Given the description of an element on the screen output the (x, y) to click on. 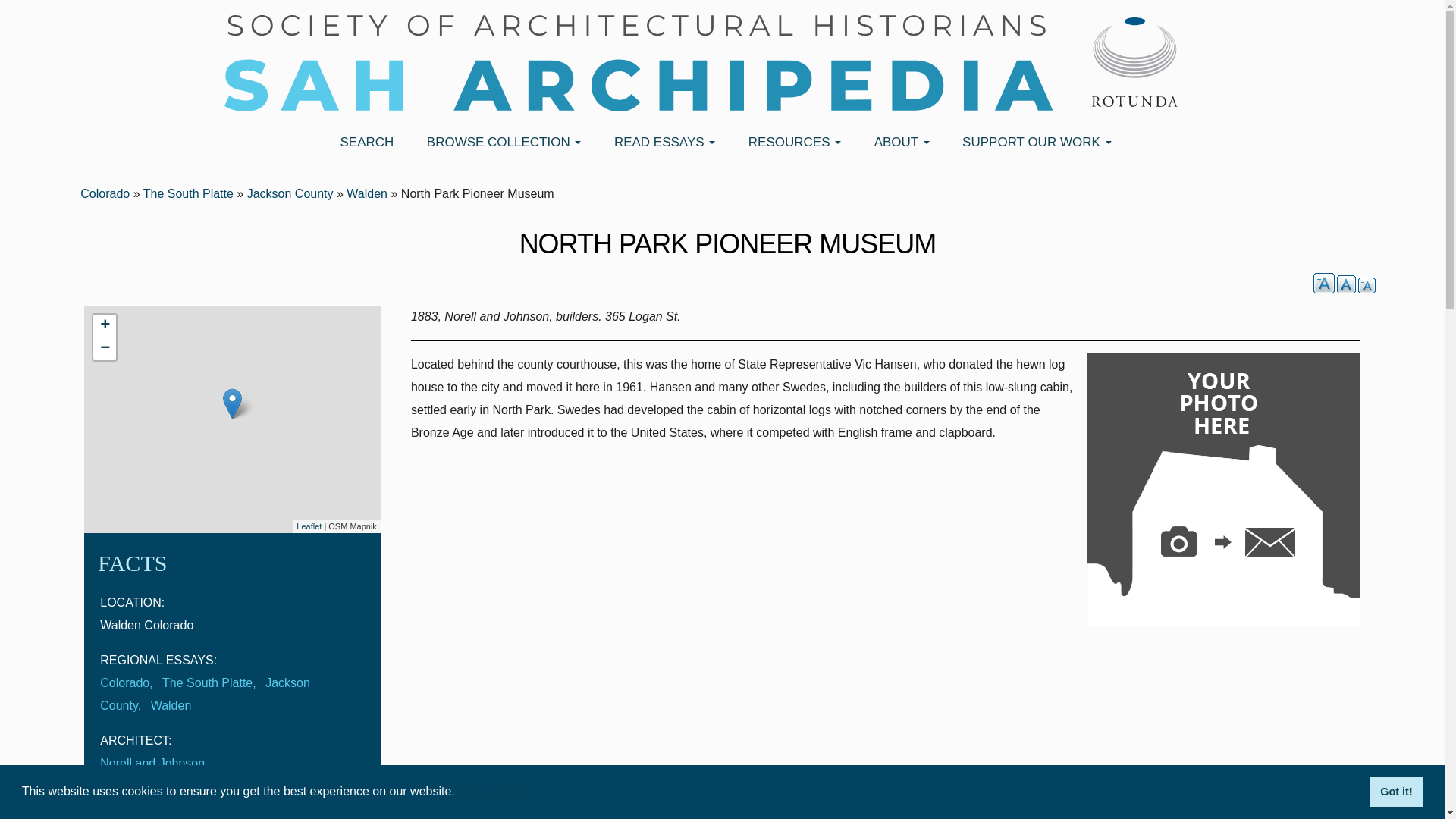
SEARCH (364, 142)
Colorado (104, 193)
Got it! (1396, 791)
ABOUT (899, 142)
Learn more (491, 791)
The South Platte (187, 193)
SUPPORT OUR WORK (1034, 142)
READ ESSAYS (662, 142)
BROWSE COLLECTION (502, 142)
Jackson County (290, 193)
RESOURCES (792, 142)
Walden (366, 193)
A (1366, 285)
